Given the description of an element on the screen output the (x, y) to click on. 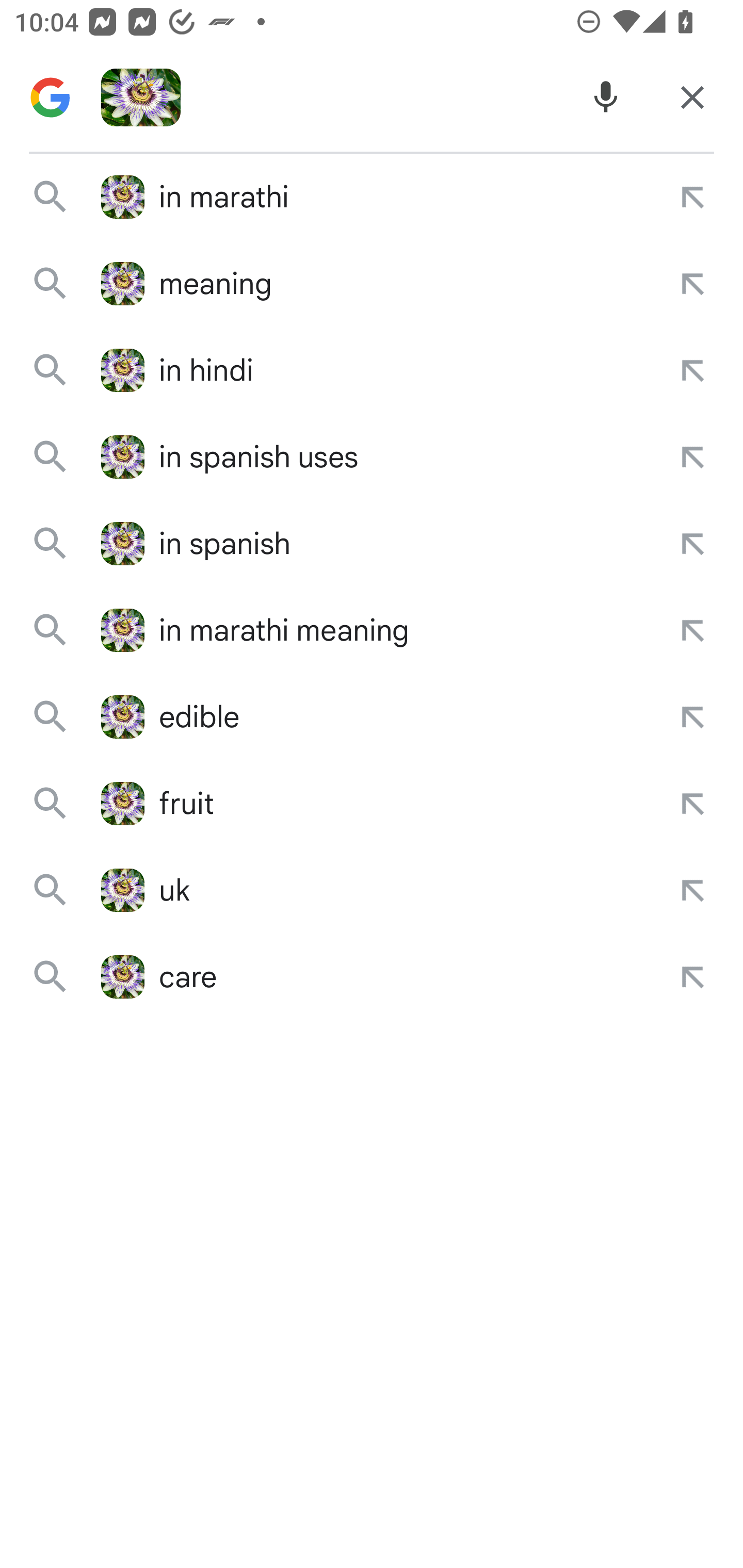
Search… (376, 97)
Voice Search (605, 97)
Clear (692, 97)
Select image (140, 97)
Show predictions for in marathi (692, 196)
Show predictions for meaning (692, 283)
Show predictions for in hindi (692, 370)
Show predictions for in spanish uses (692, 456)
Show predictions for in spanish (692, 543)
Show predictions for in marathi meaning (692, 630)
Search edible. edible Show predictions for edible (371, 717)
Show predictions for edible (692, 717)
Search fruit. fruit Show predictions for fruit (371, 803)
Show predictions for fruit (692, 803)
Search uk. uk Show predictions for uk (371, 889)
Show predictions for uk (692, 889)
Search care. care Show predictions for care (371, 976)
Show predictions for care (692, 976)
